Given the description of an element on the screen output the (x, y) to click on. 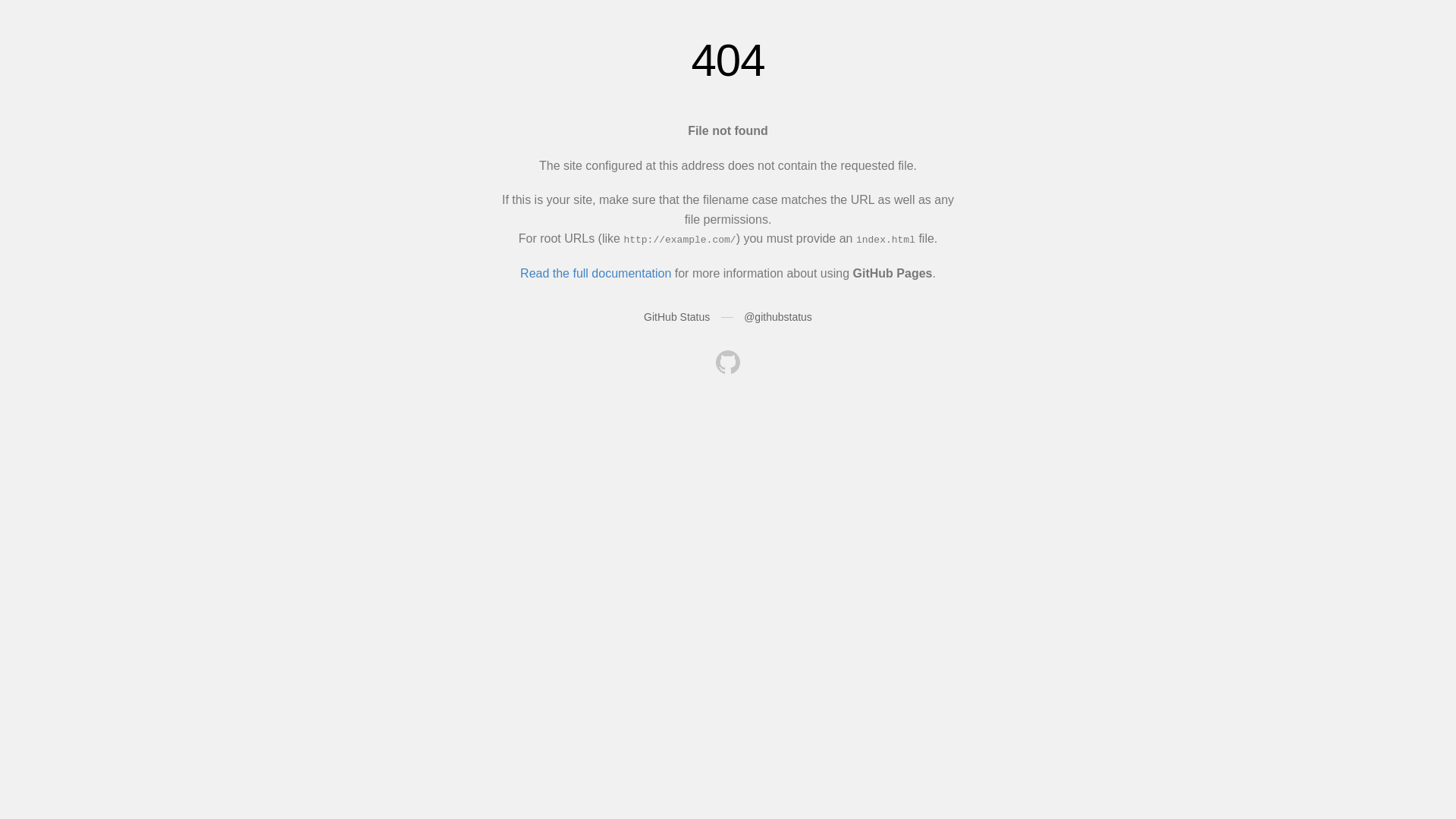
@githubstatus Element type: text (777, 316)
Read the full documentation Element type: text (595, 272)
GitHub Status Element type: text (676, 316)
